Given the description of an element on the screen output the (x, y) to click on. 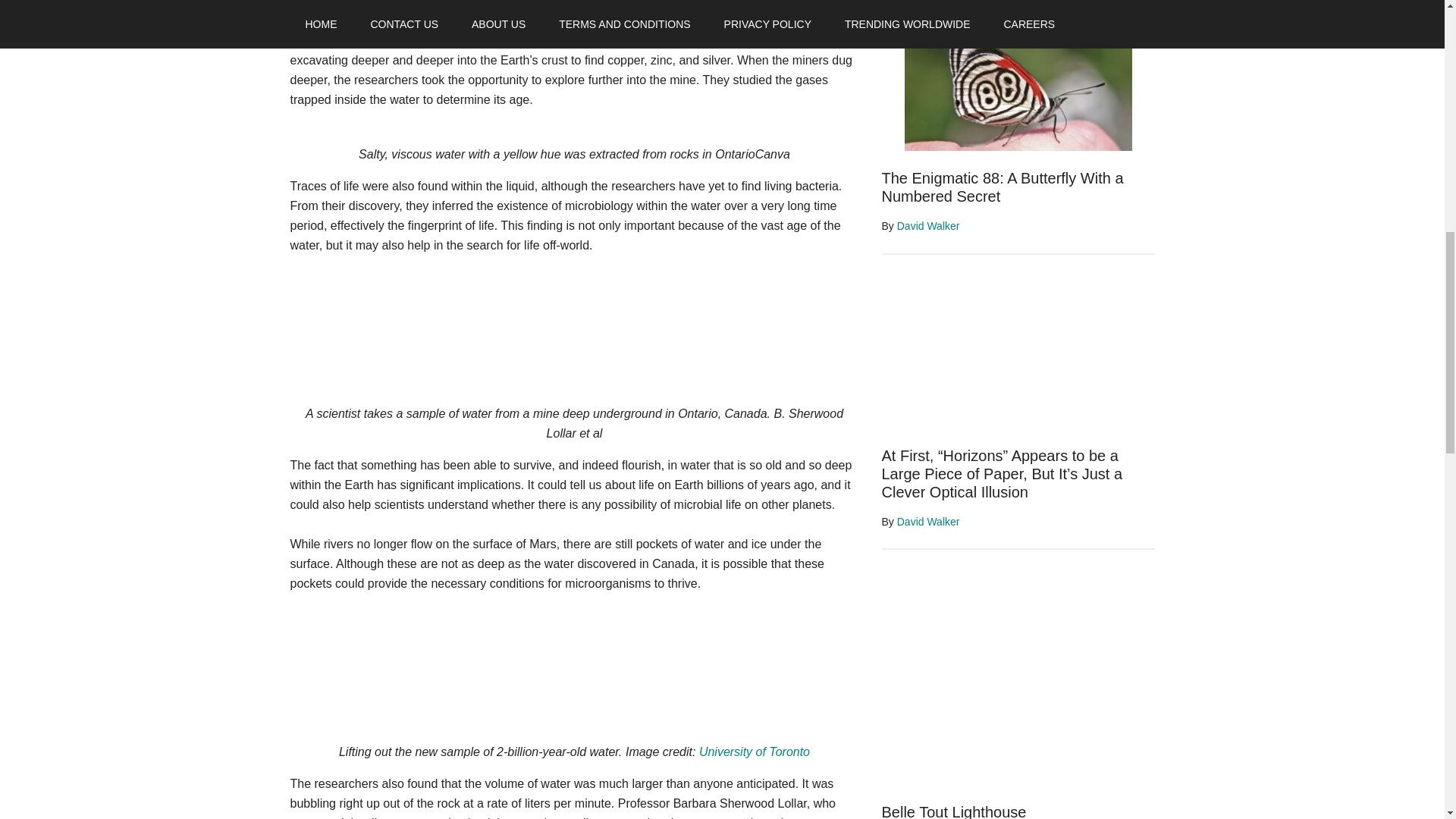
University of Toronto (753, 751)
